Given the description of an element on the screen output the (x, y) to click on. 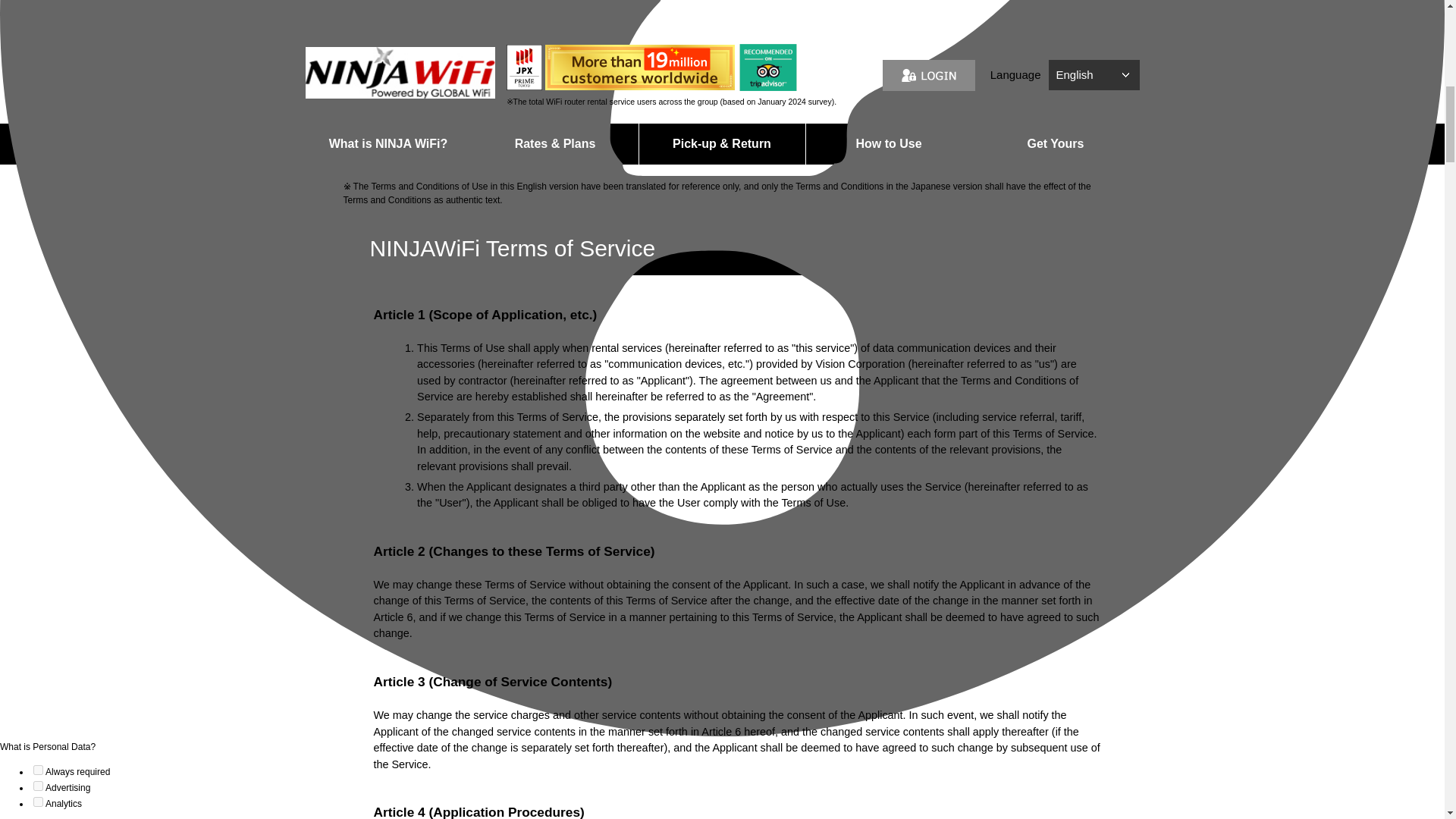
What is NINJA WiFi? (387, 143)
WiFi (722, 184)
Get Yours (1055, 143)
How to Use (888, 143)
